Given the description of an element on the screen output the (x, y) to click on. 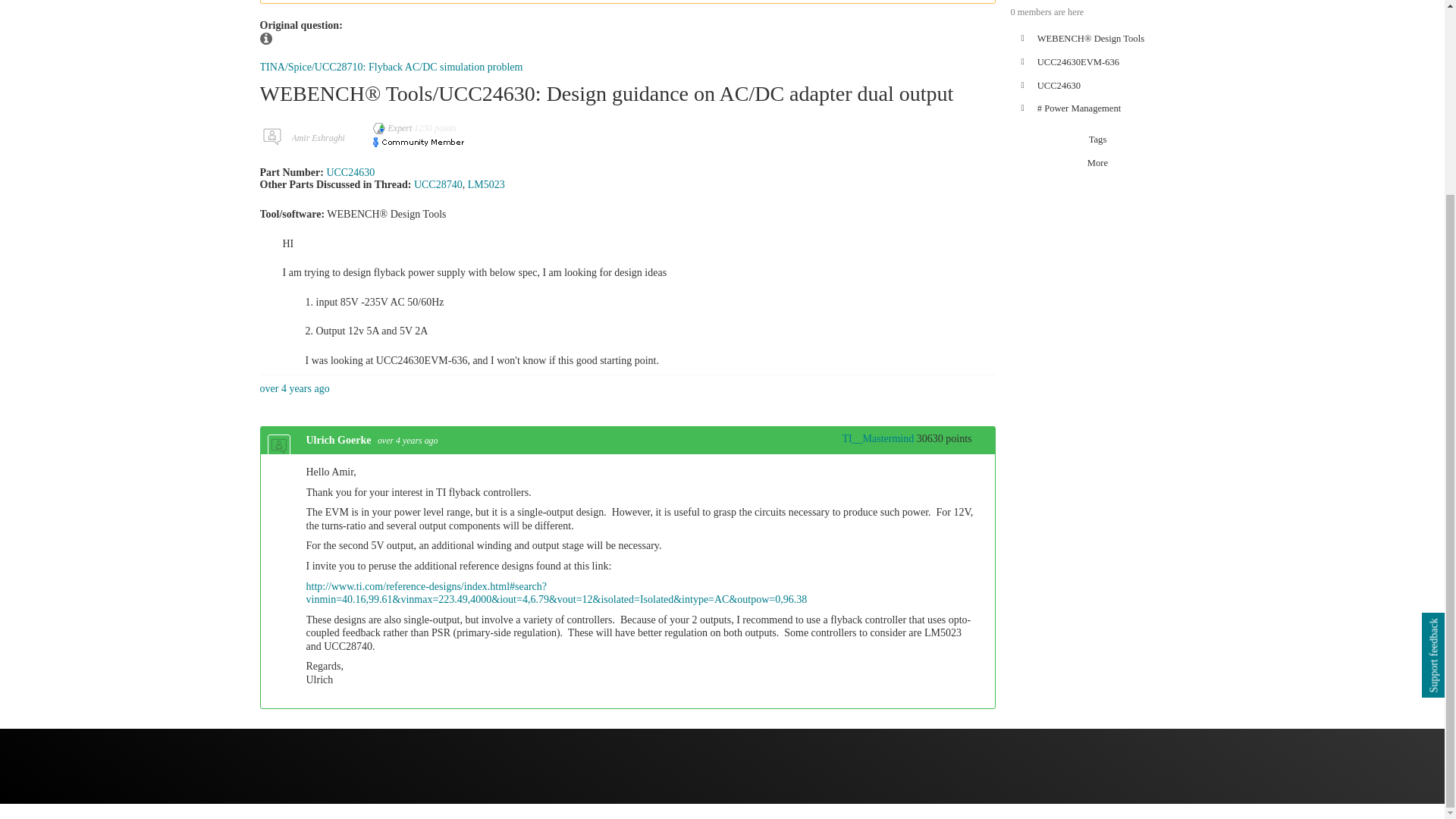
Link to Product Folder (486, 184)
Click here for explanation of levels (393, 127)
Link to Product Folder (438, 184)
Link to Product Folder (350, 172)
Click here for explanation of levels (871, 438)
